Given the description of an element on the screen output the (x, y) to click on. 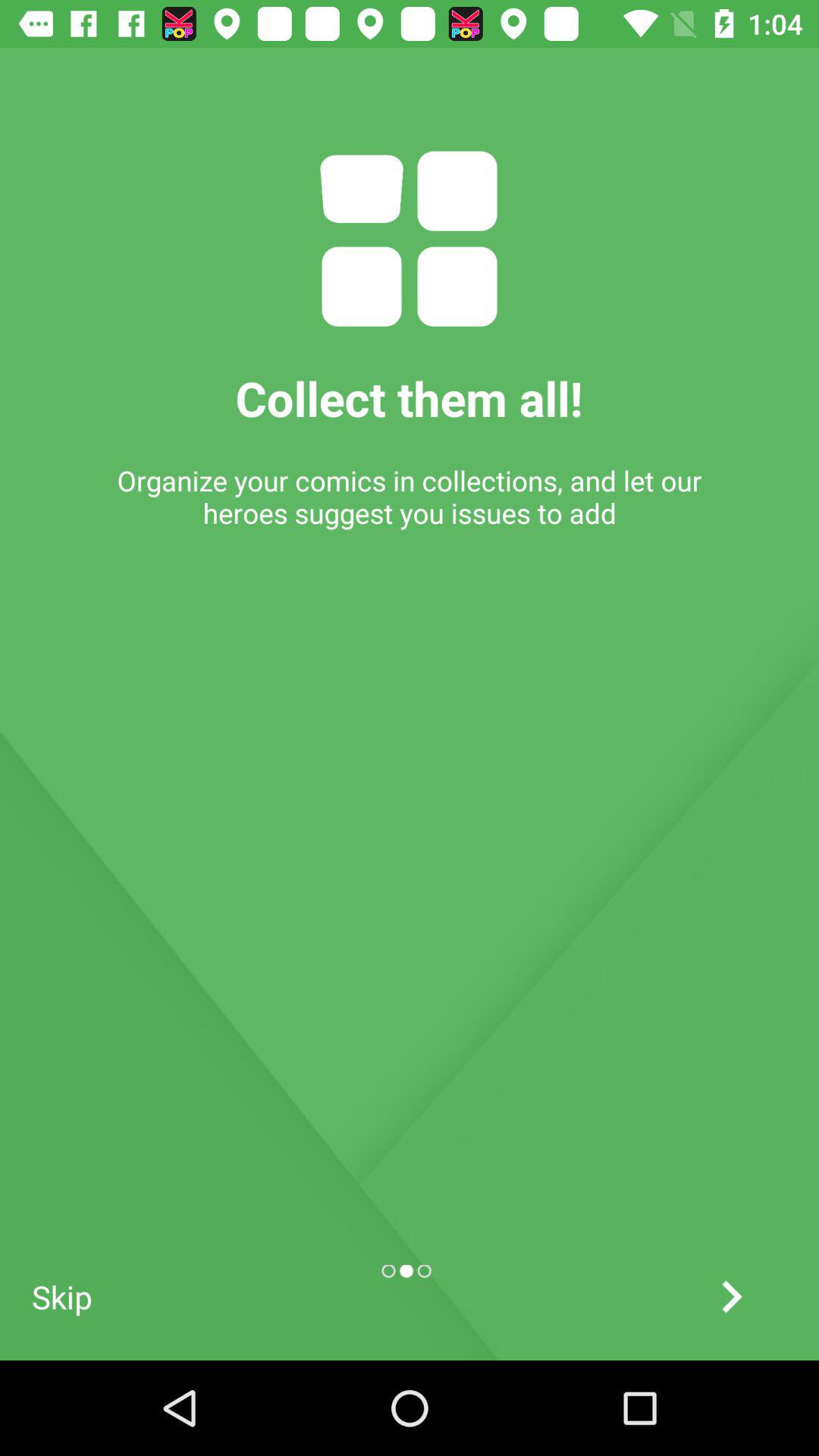
next (731, 1296)
